Given the description of an element on the screen output the (x, y) to click on. 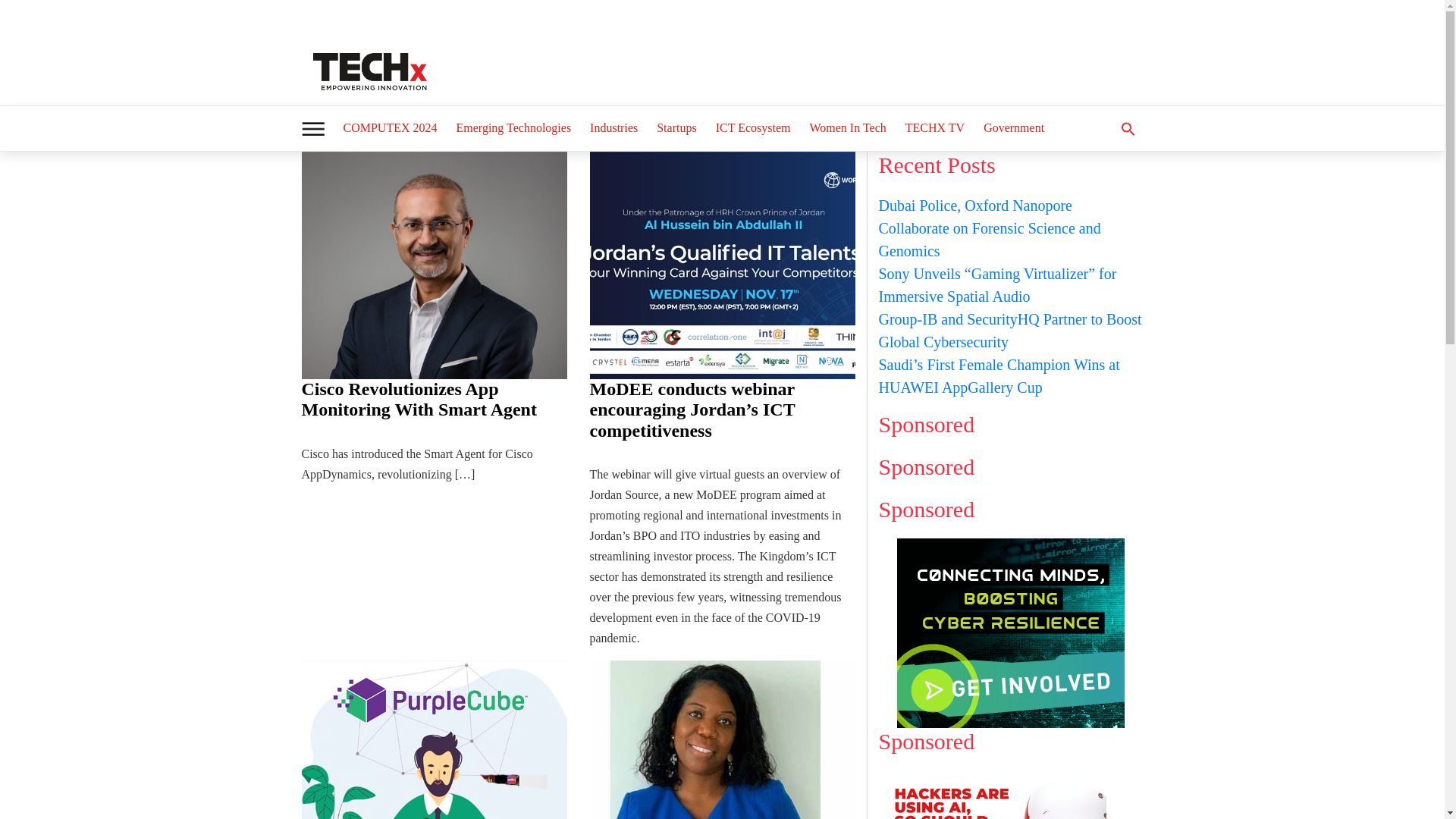
Government (1013, 127)
Women In Tech (847, 127)
TECHX TV (935, 127)
ICT Ecosystem (752, 127)
Industries (613, 127)
Startups (676, 127)
Emerging Technologies (513, 127)
COMPUTEX 2024 (389, 127)
